Given the description of an element on the screen output the (x, y) to click on. 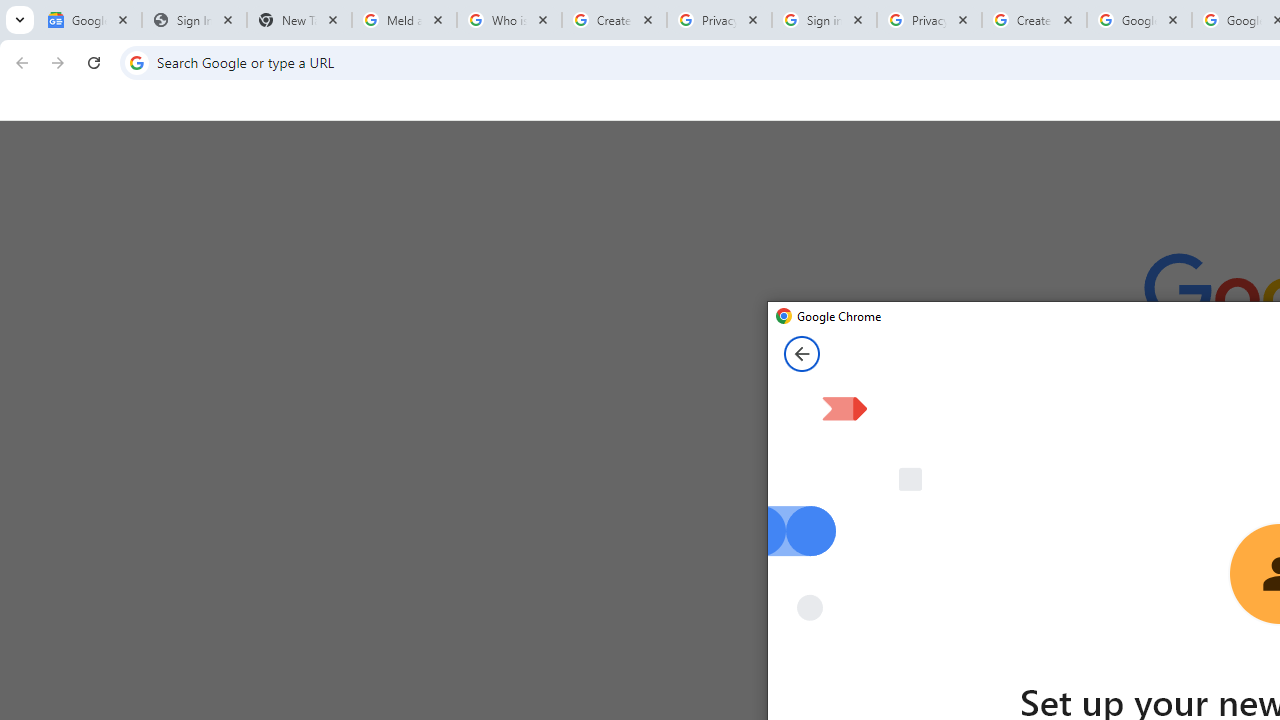
Create your Google Account (613, 20)
Create your Google Account (1033, 20)
